Given the description of an element on the screen output the (x, y) to click on. 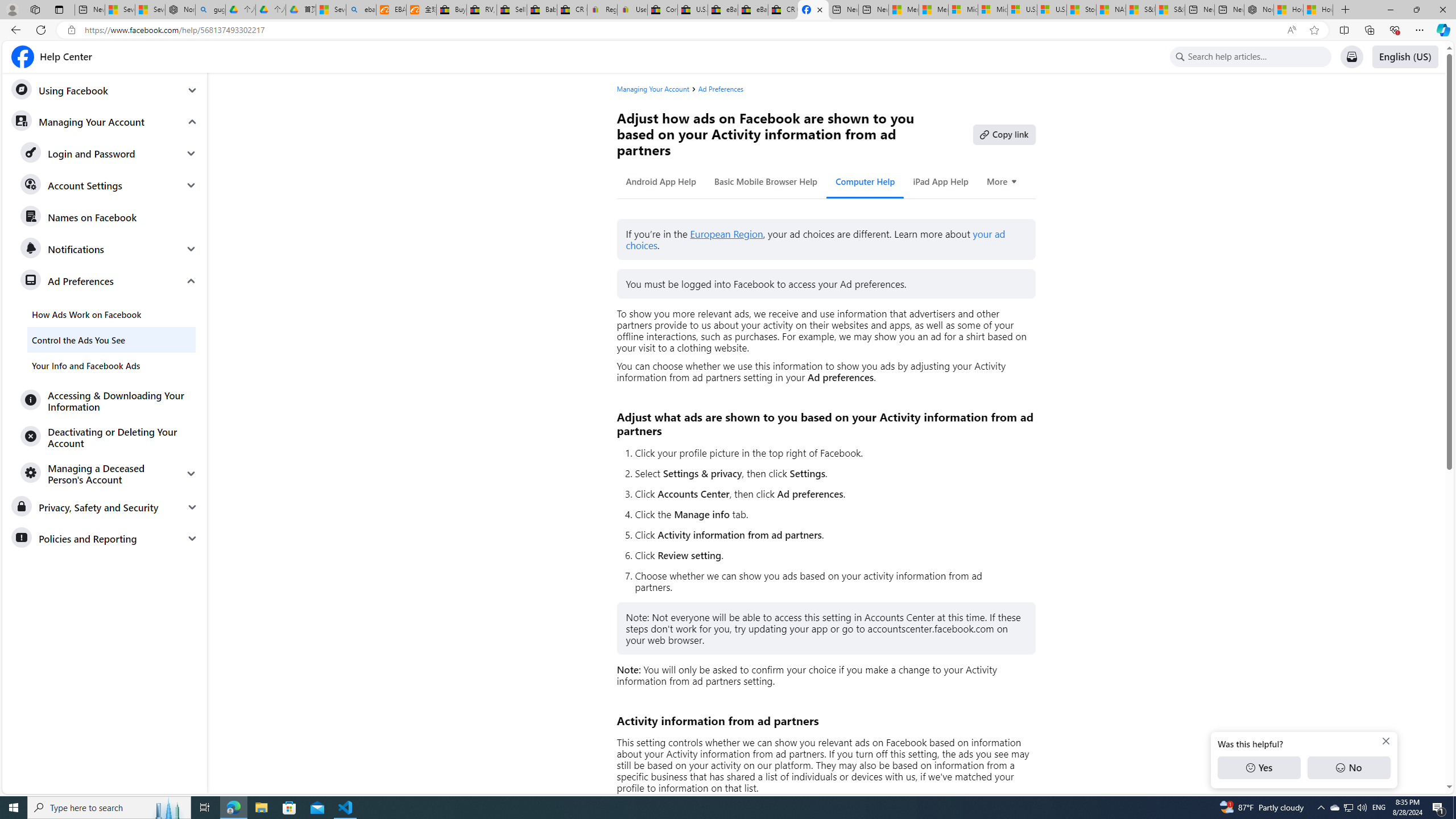
Ad Preferences (720, 89)
Managing Your Account (104, 121)
RV, Trailer & Camper Steps & Ladders for sale | eBay (481, 9)
Your Info and Facebook Ads (111, 365)
Managing Your Account (656, 89)
App bar (728, 29)
Notifications Expand (109, 249)
